Given the description of an element on the screen output the (x, y) to click on. 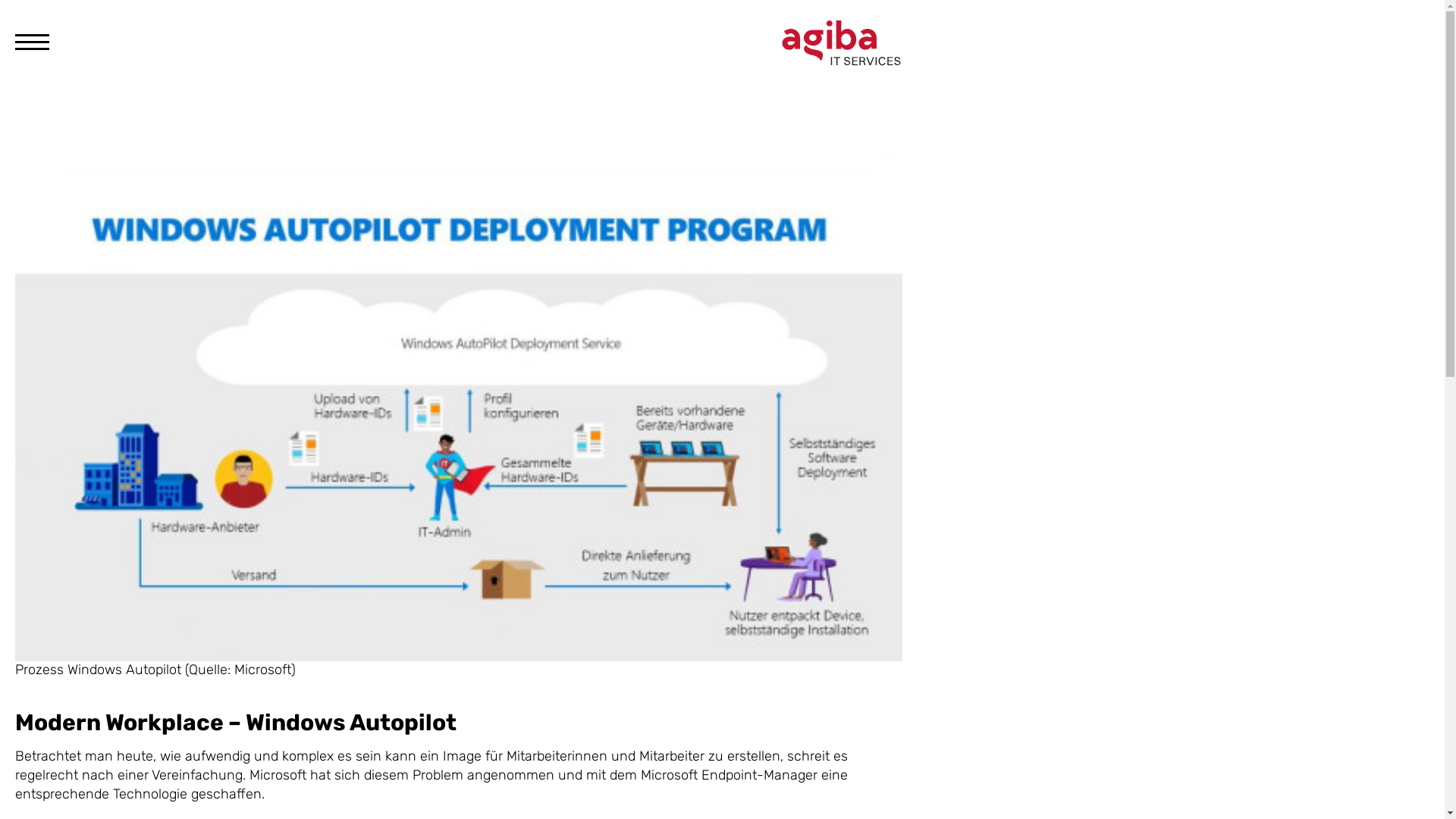
Prozess Windows Autopilot (Quelle: Microsoft) Element type: hover (458, 408)
logo text Element type: hover (841, 42)
